Given the description of an element on the screen output the (x, y) to click on. 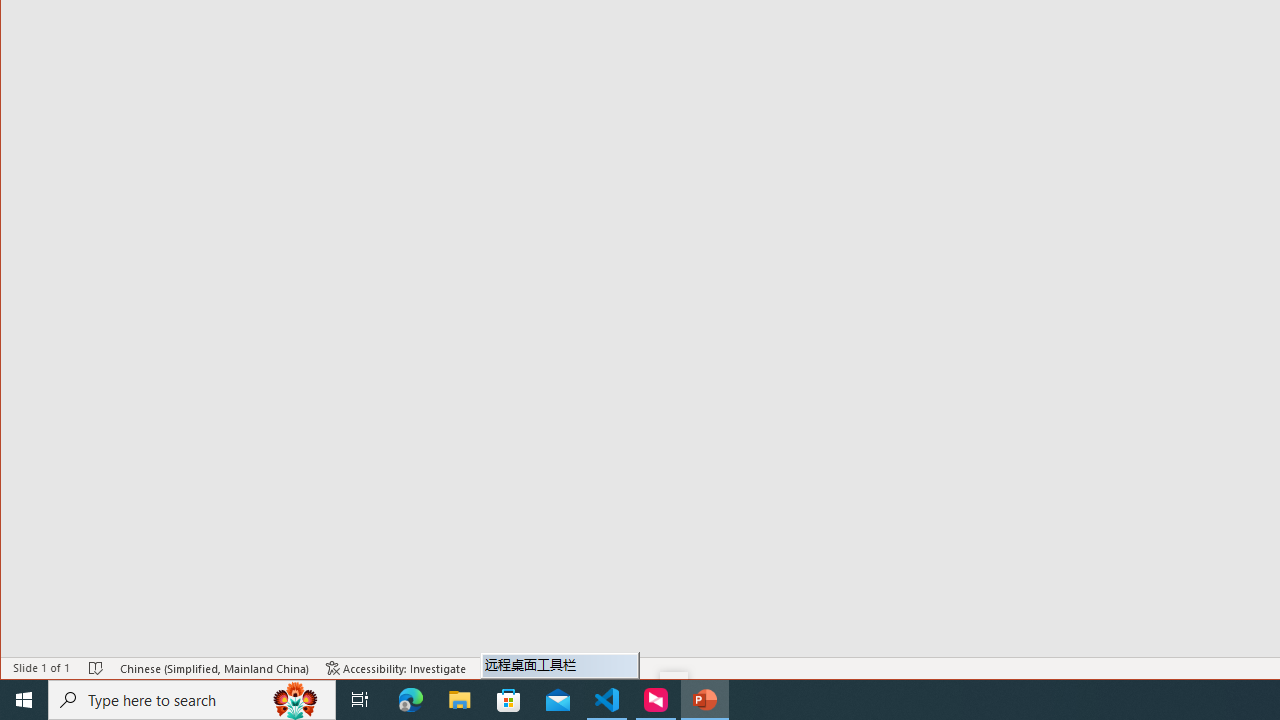
Microsoft Edge (411, 699)
